Given the description of an element on the screen output the (x, y) to click on. 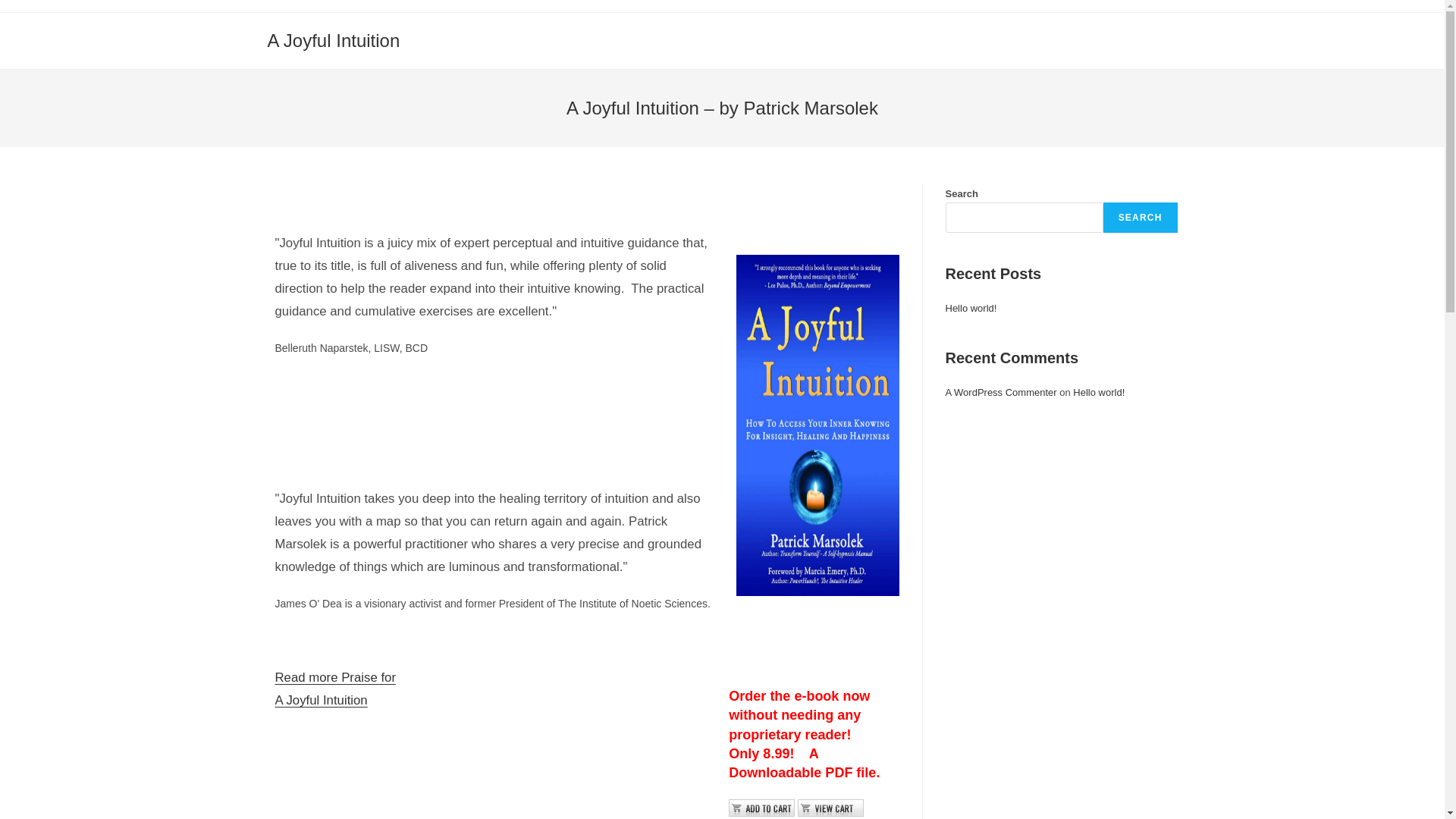
Hello world! (969, 307)
Hello world! (1098, 392)
A Joyful Intuition (332, 40)
SEARCH (1140, 217)
A WordPress Commenter (1000, 392)
